Given the description of an element on the screen output the (x, y) to click on. 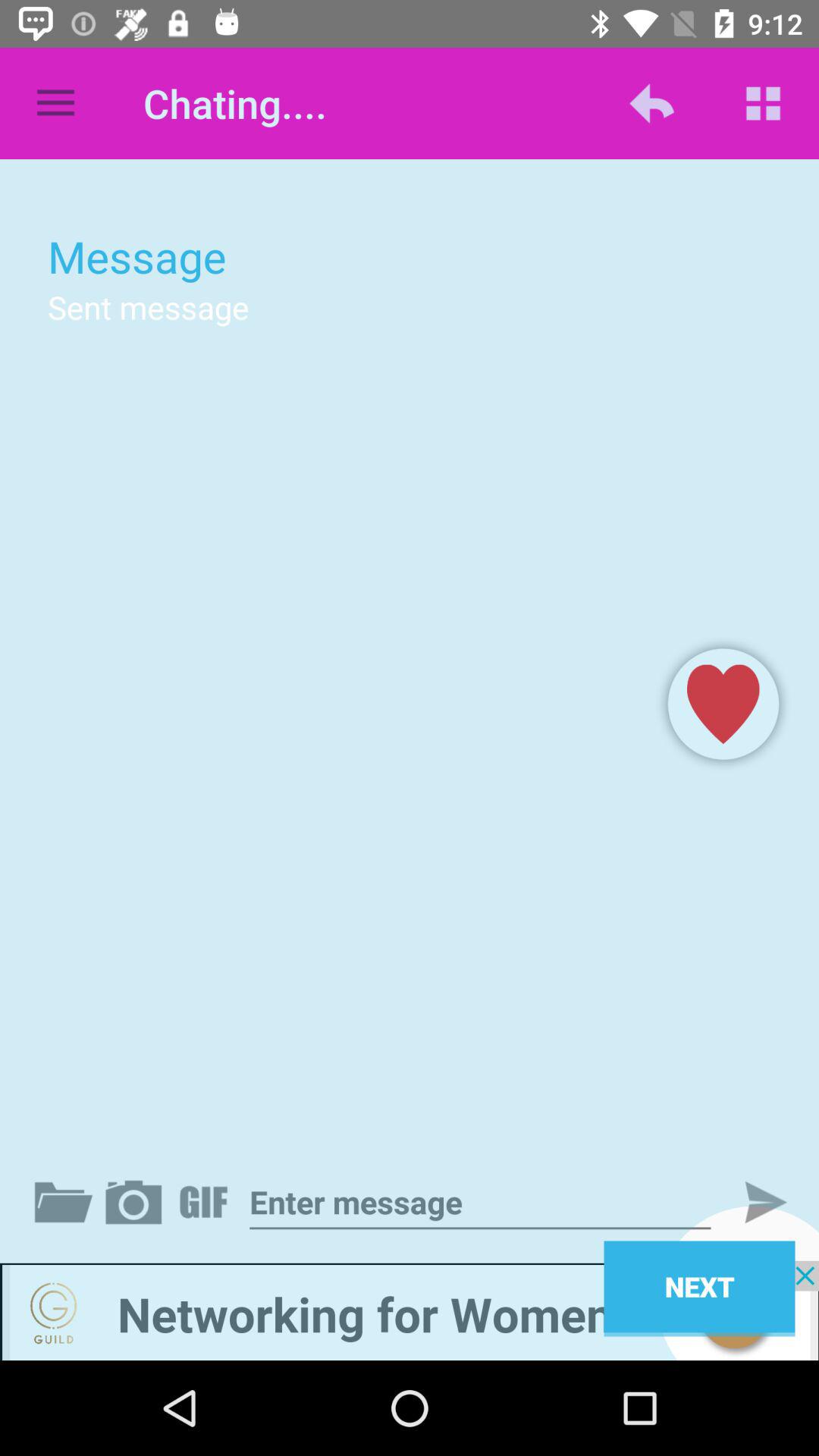
add gif image (206, 1202)
